Given the description of an element on the screen output the (x, y) to click on. 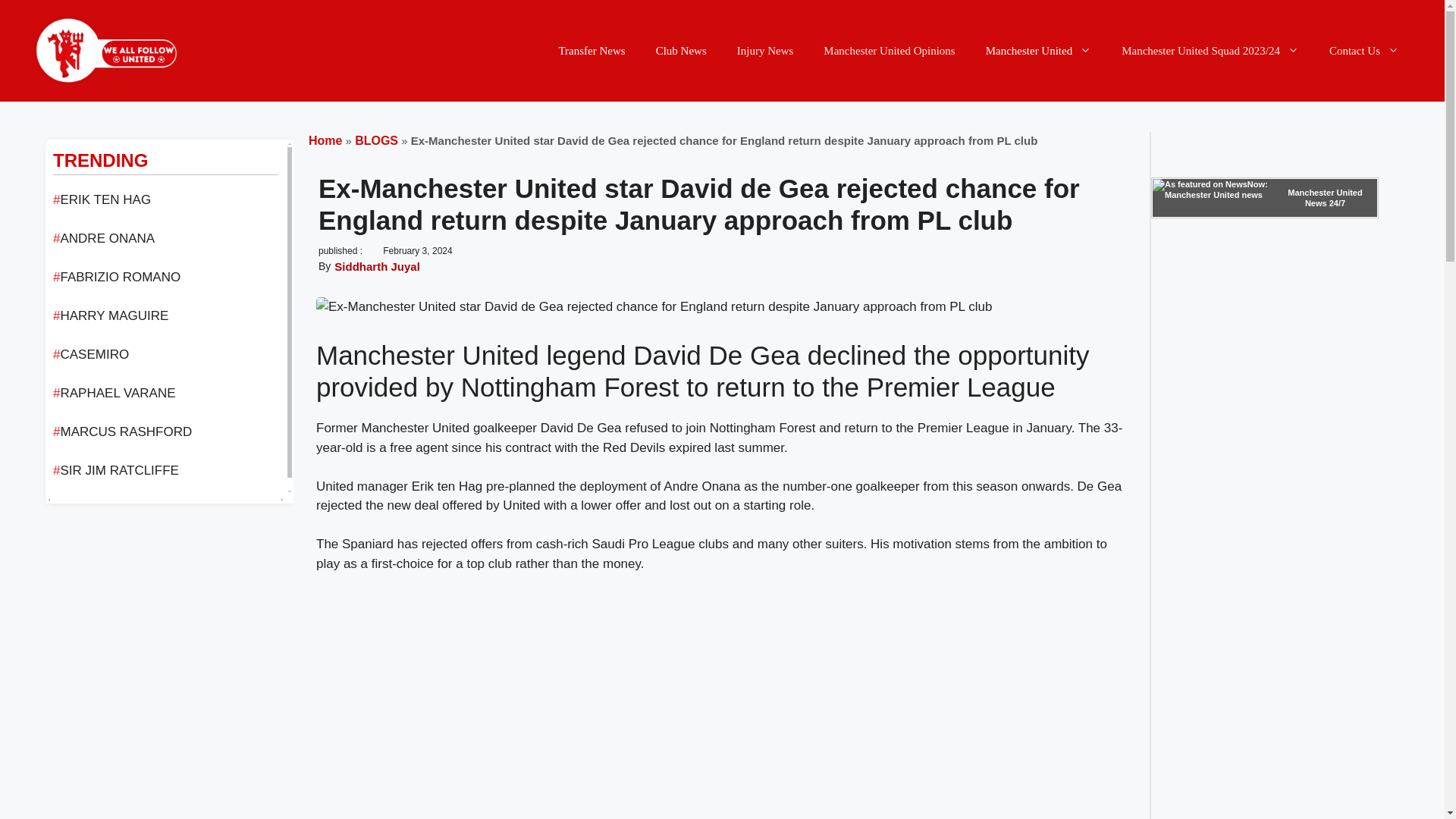
Manchester United Opinions (888, 50)
Transfer News (591, 50)
Injury News (765, 50)
Club News (681, 50)
Click here for more Manchester United news from NewsNow (1264, 197)
Manchester United (1038, 50)
